Given the description of an element on the screen output the (x, y) to click on. 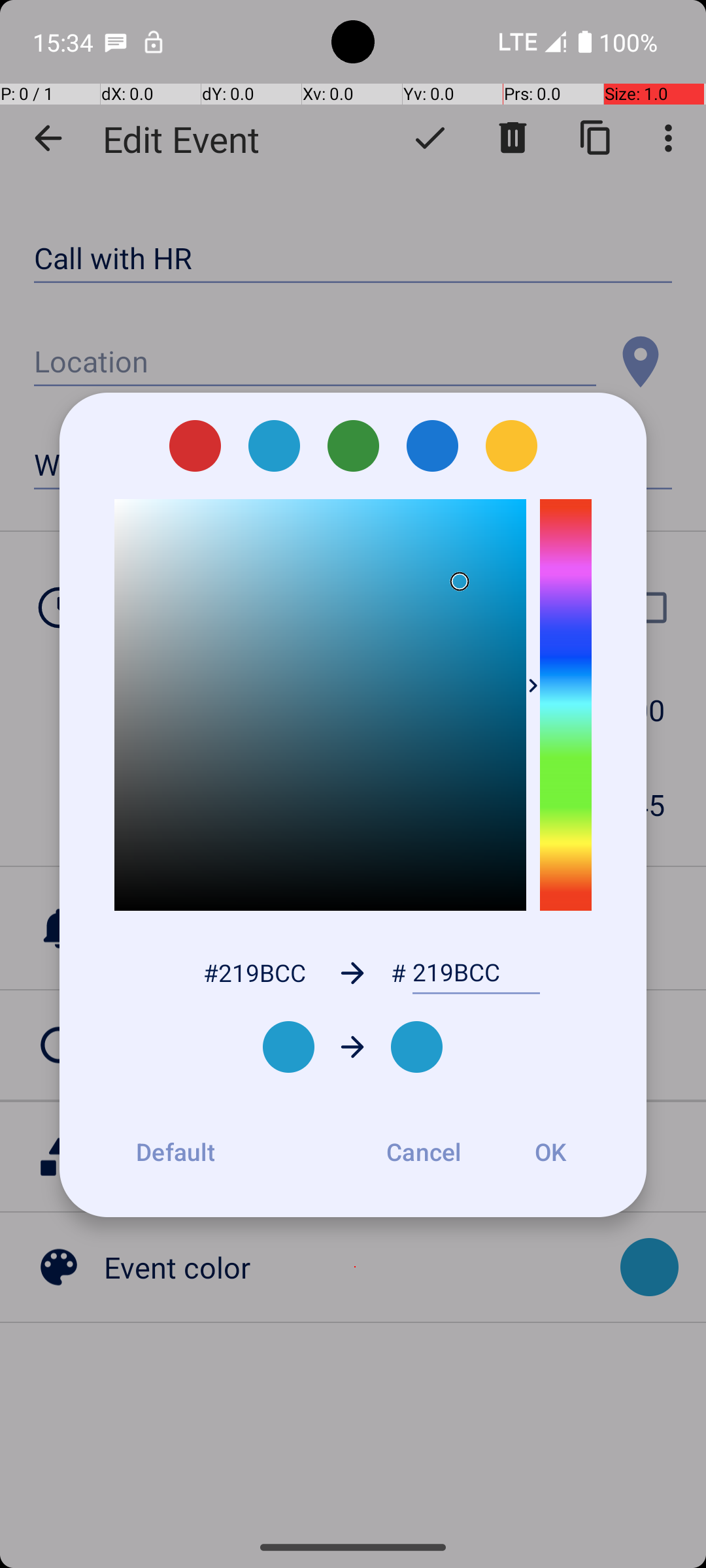
#219BCC Element type: android.widget.TextView (254, 972)
219BCC Element type: android.widget.EditText (475, 972)
Default Element type: android.widget.Button (174, 1151)
